Given the description of an element on the screen output the (x, y) to click on. 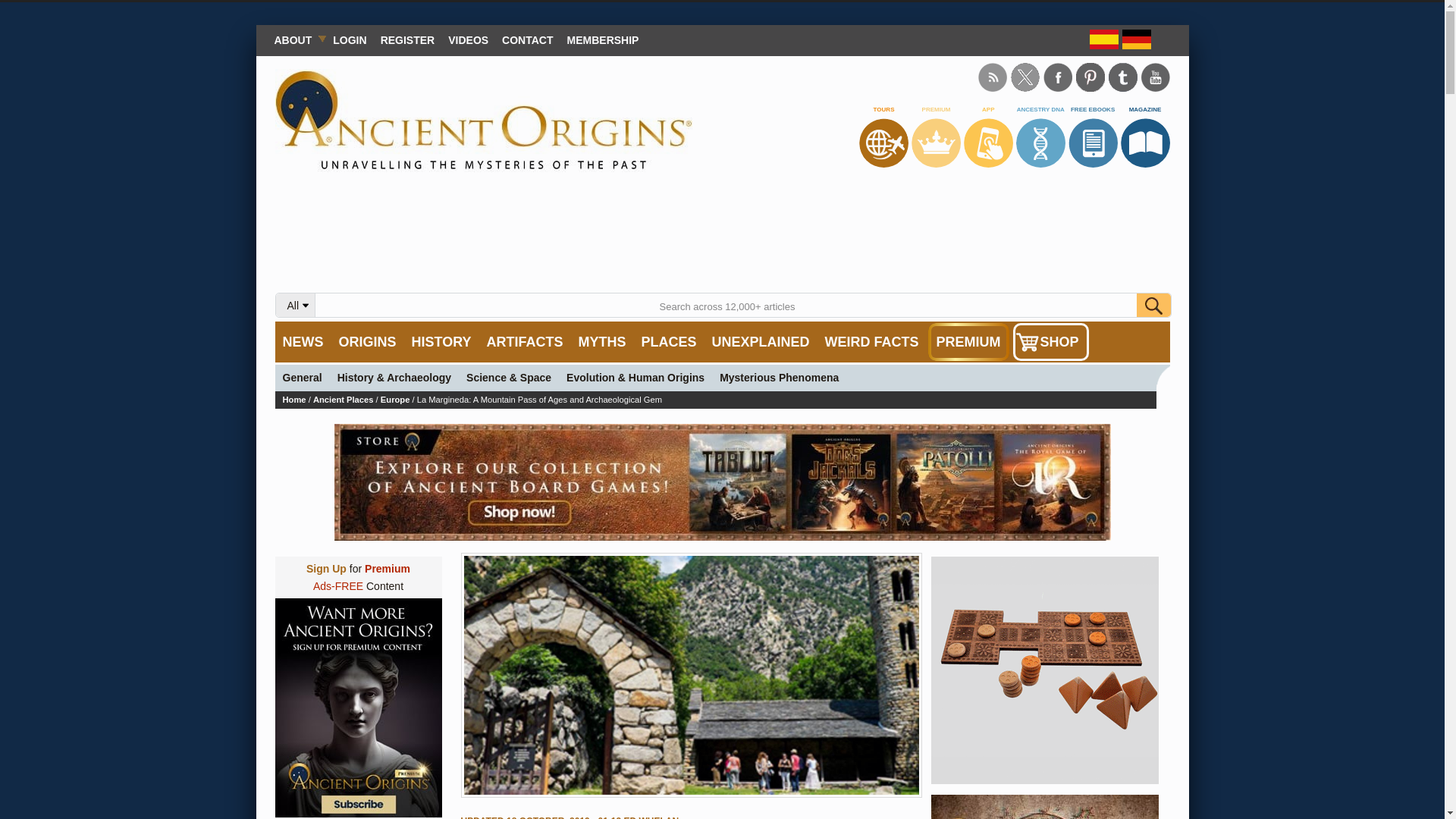
MEMBERSHIP (603, 40)
VIDEOS (468, 40)
Become a registered user (408, 40)
LOGIN (349, 40)
Login (349, 40)
CONTACT (526, 40)
Contact us (526, 40)
Our Mission (296, 40)
Video Gallery (468, 40)
